Given the description of an element on the screen output the (x, y) to click on. 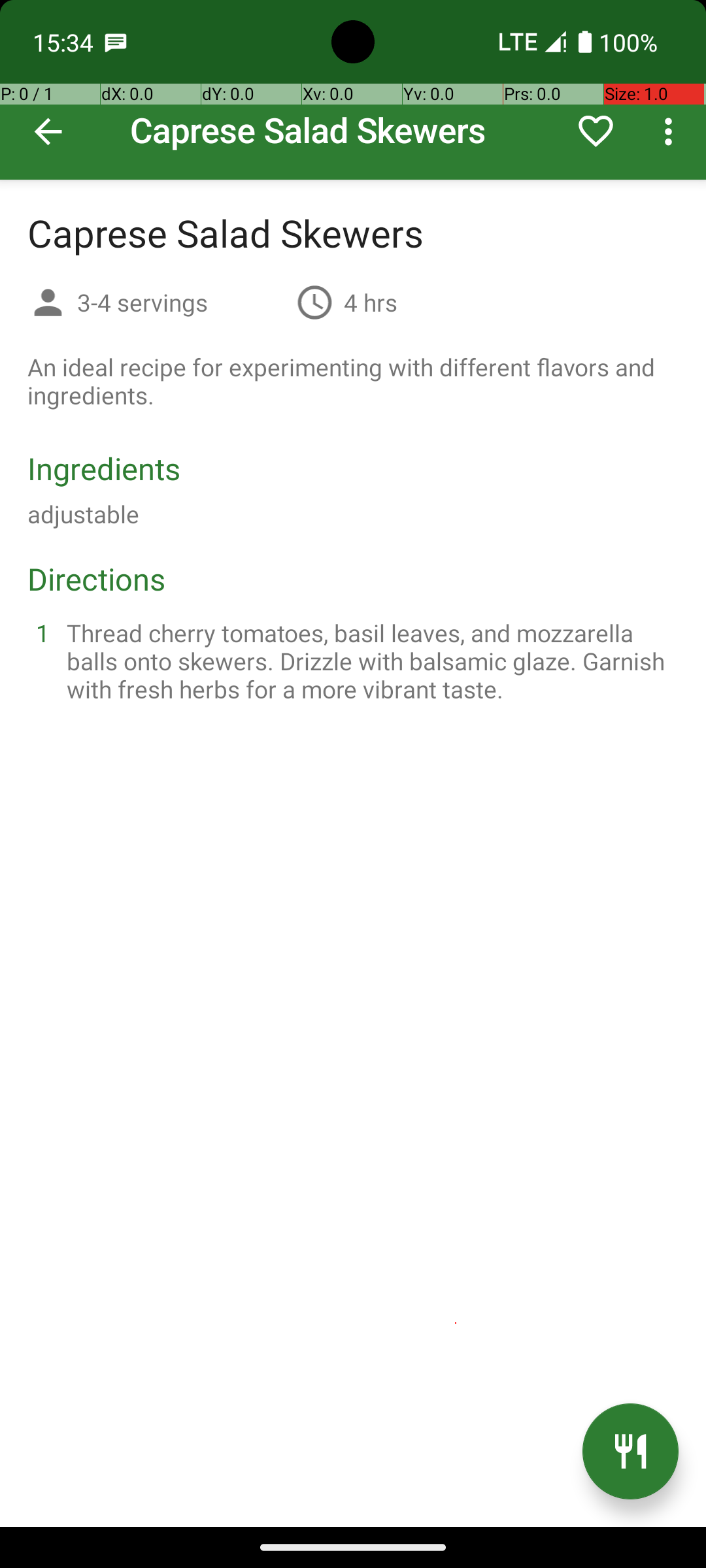
Thread cherry tomatoes, basil leaves, and mozzarella balls onto skewers. Drizzle with balsamic glaze. Garnish with fresh herbs for a more vibrant taste. Element type: android.widget.TextView (368, 660)
SMS Messenger notification: Isla da Silva Element type: android.widget.ImageView (115, 41)
